Given the description of an element on the screen output the (x, y) to click on. 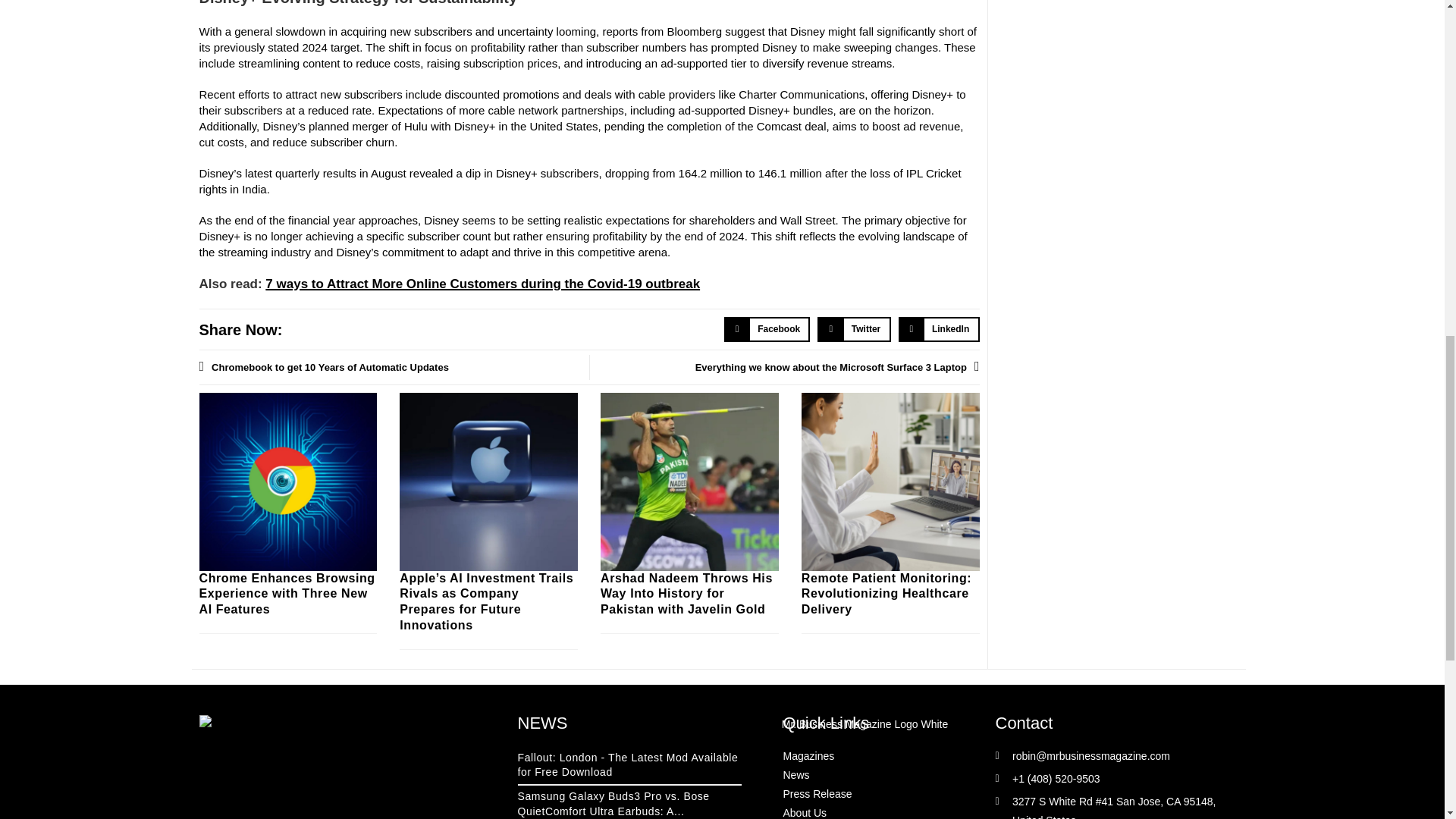
Chromebook to get 10 Years of Automatic Updates (393, 366)
Everything we know about the Microsoft Surface 3 Laptop (784, 366)
